Given the description of an element on the screen output the (x, y) to click on. 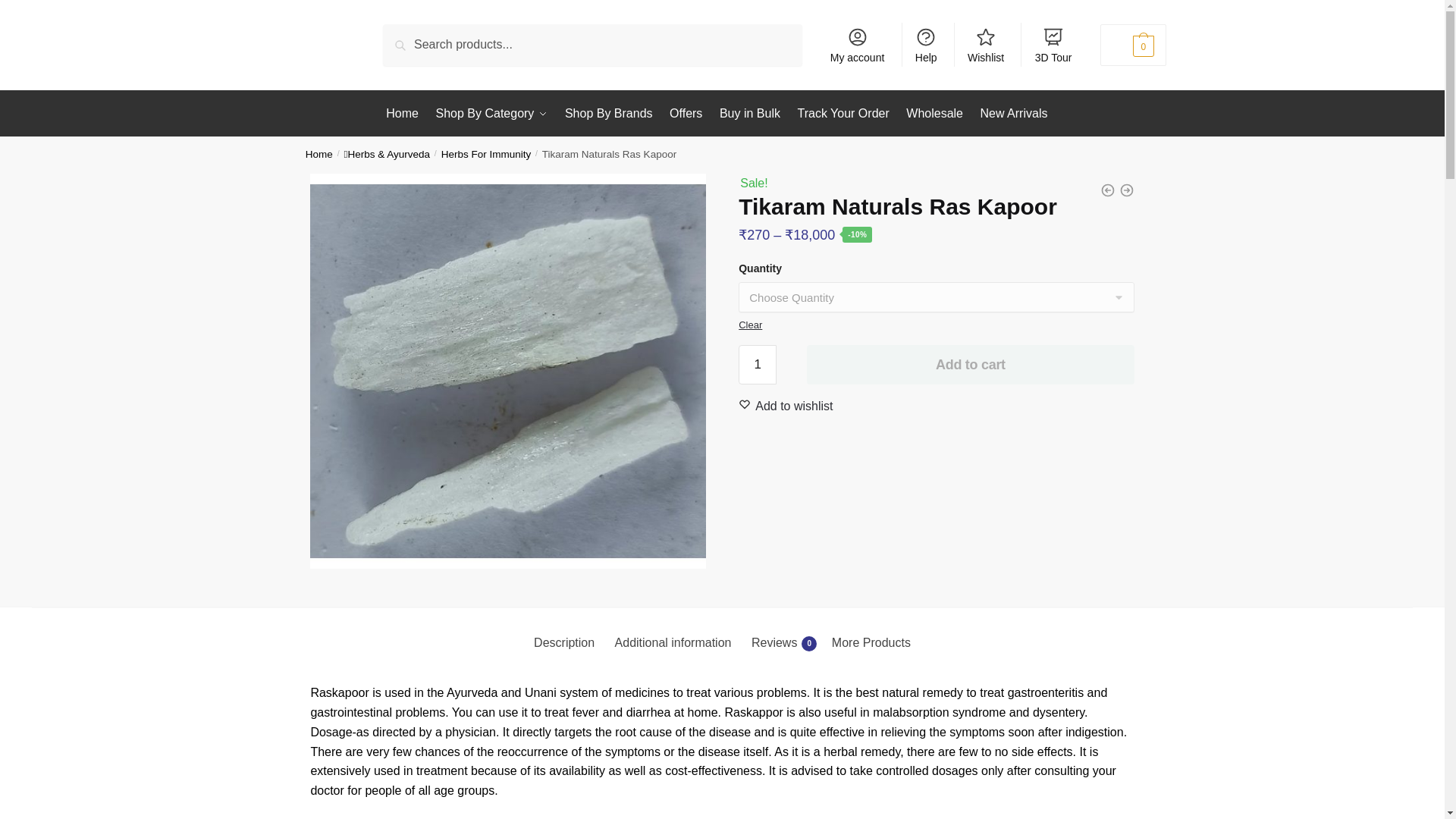
My account (857, 44)
Home (405, 113)
Help (925, 44)
Wishlist (793, 405)
1 (757, 364)
View your shopping cart (1133, 45)
POLICY BANNER (936, 474)
3D Tour (1052, 44)
Shop By Category (491, 113)
Search (406, 34)
Wishlist (985, 44)
